Given the description of an element on the screen output the (x, y) to click on. 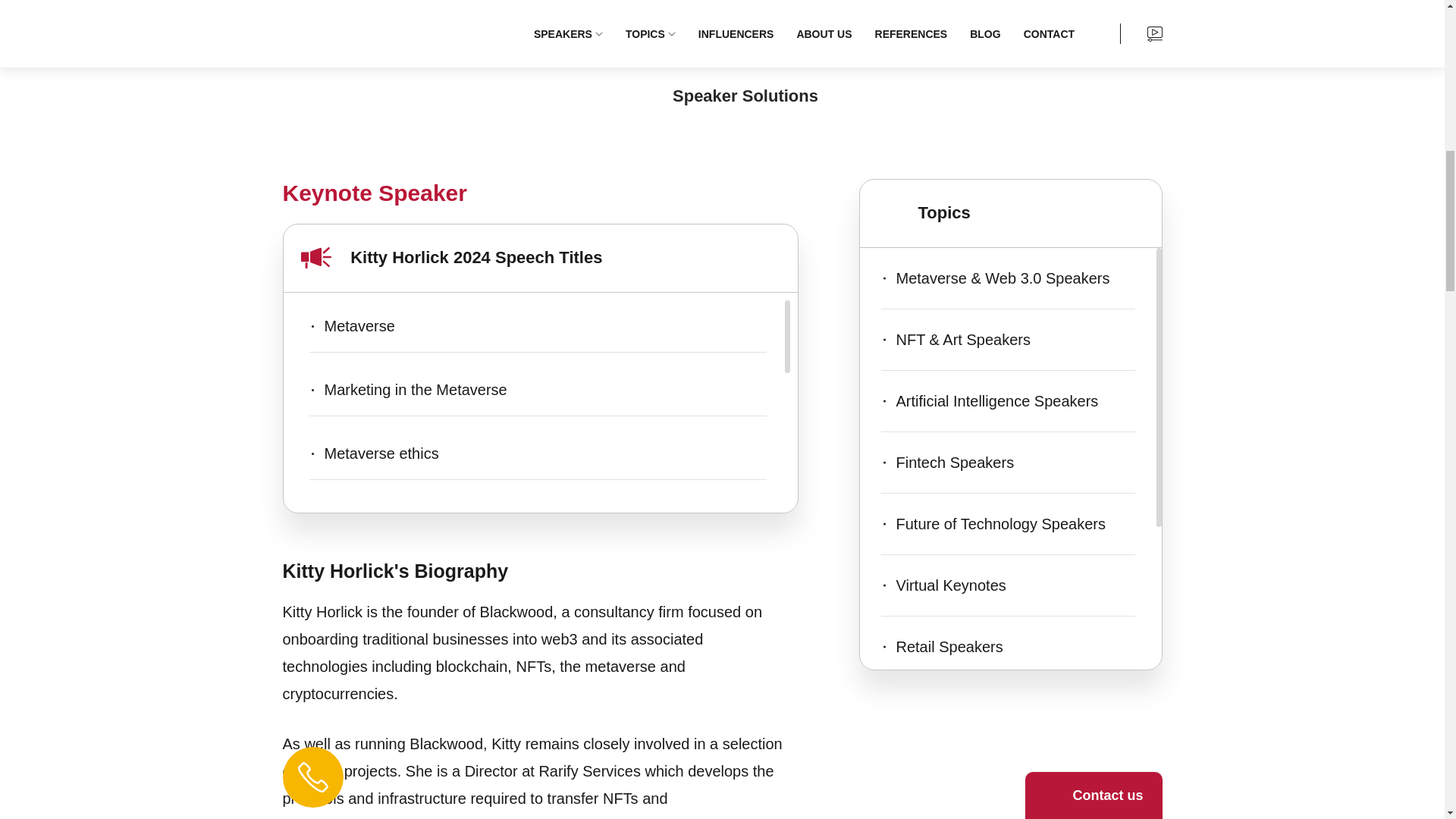
Kitty Horlick Sotheby's Video (612, 2)
